Given the description of an element on the screen output the (x, y) to click on. 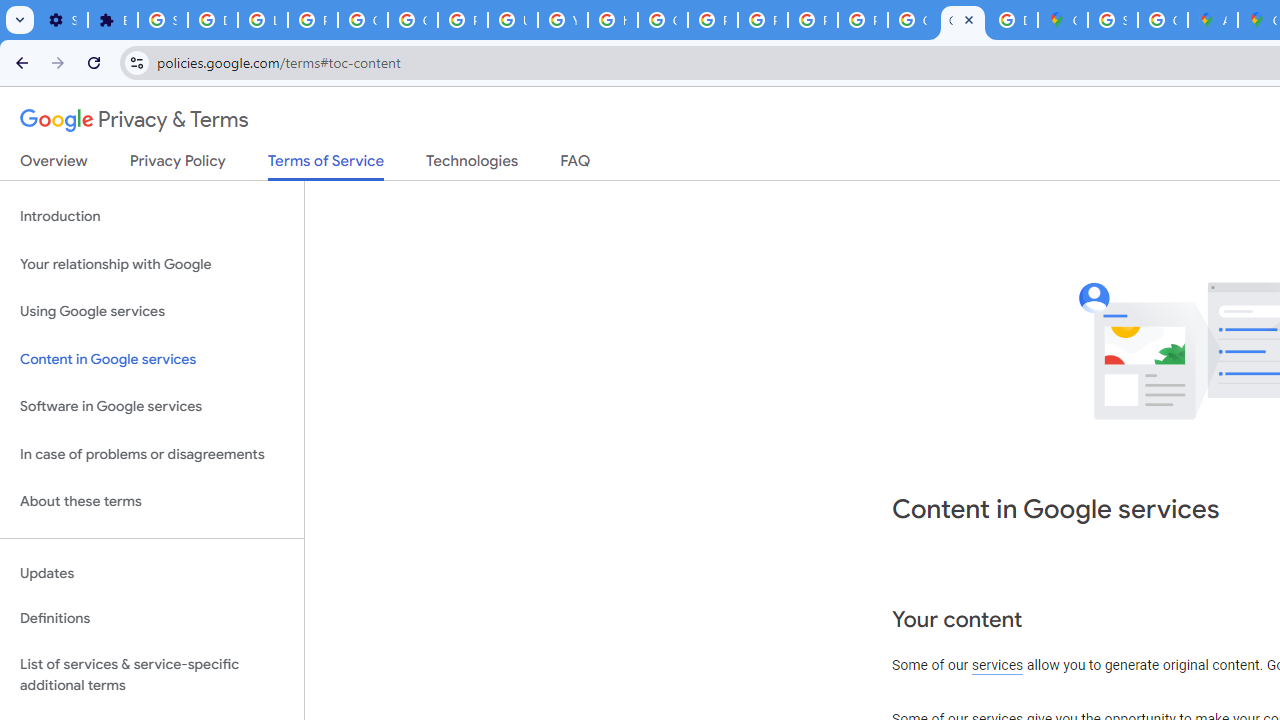
FAQ (575, 165)
Using Google services (152, 312)
Privacy & Terms (134, 120)
Definitions (152, 619)
In case of problems or disagreements (152, 453)
Learn how to find your photos - Google Photos Help (262, 20)
Overview (54, 165)
Create your Google Account (1162, 20)
Content in Google services (152, 358)
